Given the description of an element on the screen output the (x, y) to click on. 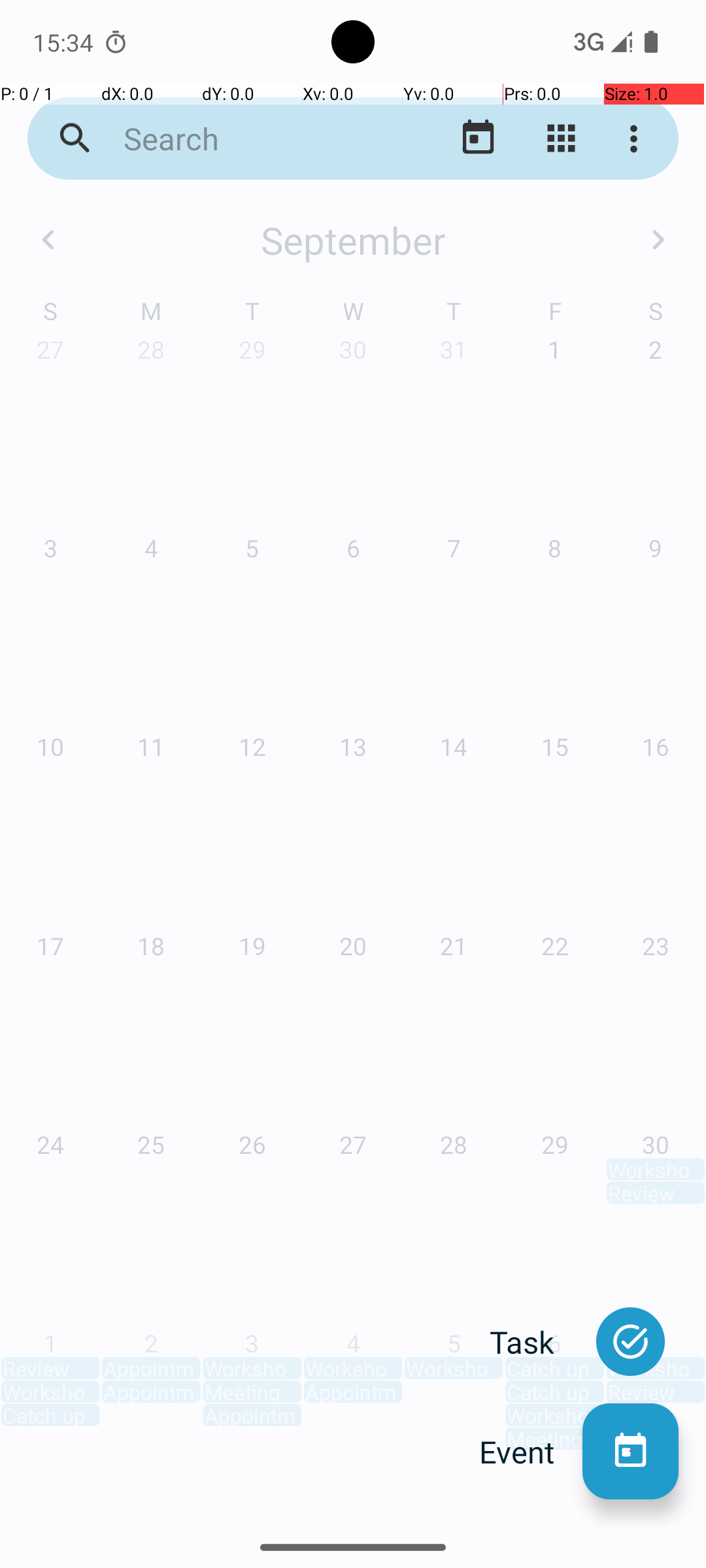
September Element type: android.widget.TextView (352, 239)
